Given the description of an element on the screen output the (x, y) to click on. 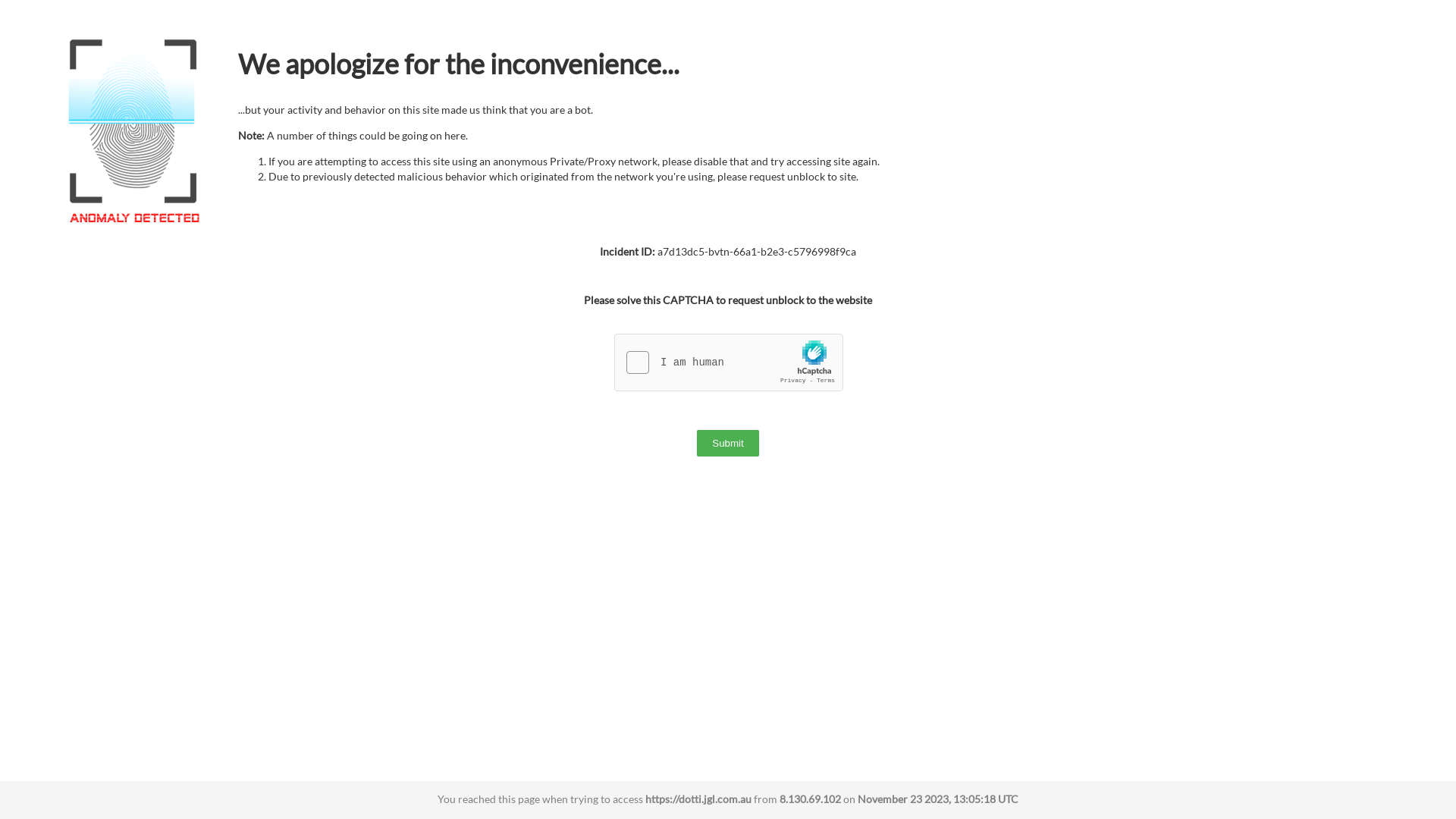
Submit Element type: text (727, 442)
Widget containing checkbox for hCaptcha security challenge Element type: hover (729, 362)
